Given the description of an element on the screen output the (x, y) to click on. 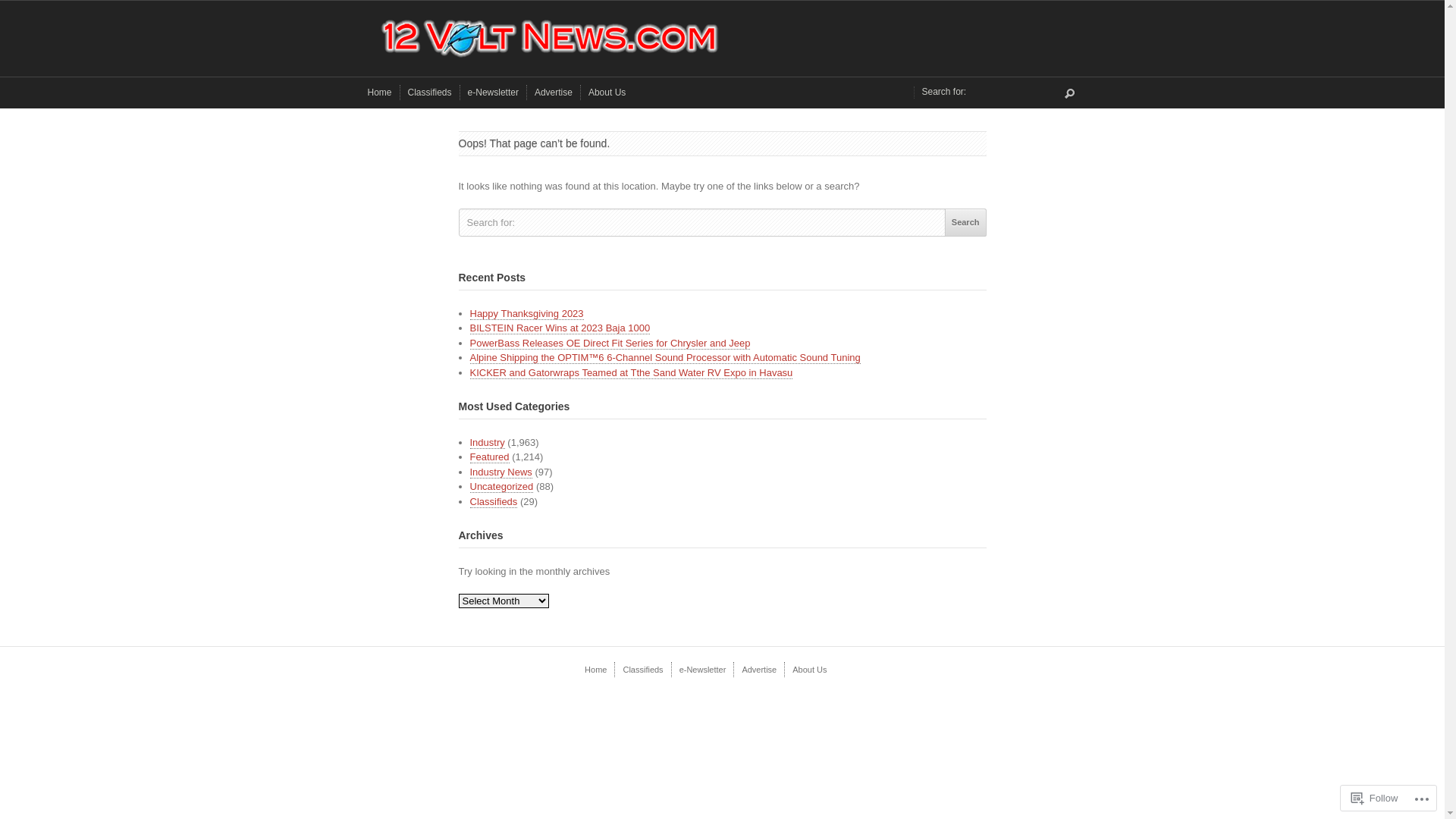
Follow Element type: text (1374, 797)
About Us Element type: text (606, 92)
e-Newsletter Element type: text (492, 92)
Featured Element type: text (489, 457)
12VoltNews.com Element type: hover (721, 38)
Classifieds Element type: text (429, 92)
Search Element type: text (965, 222)
Happy Thanksgiving 2023 Element type: text (526, 313)
Search Element type: text (1068, 93)
e-Newsletter Element type: text (702, 669)
Home Element type: text (595, 669)
About Us Element type: text (809, 669)
Uncategorized Element type: text (501, 486)
Home Element type: text (379, 92)
BILSTEIN Racer Wins at 2023 Baja 1000 Element type: text (560, 328)
Advertise Element type: text (758, 669)
Advertise Element type: text (553, 92)
Classifieds Element type: text (642, 669)
Classifieds Element type: text (493, 501)
Industry News Element type: text (501, 472)
Industry Element type: text (487, 442)
